Given the description of an element on the screen output the (x, y) to click on. 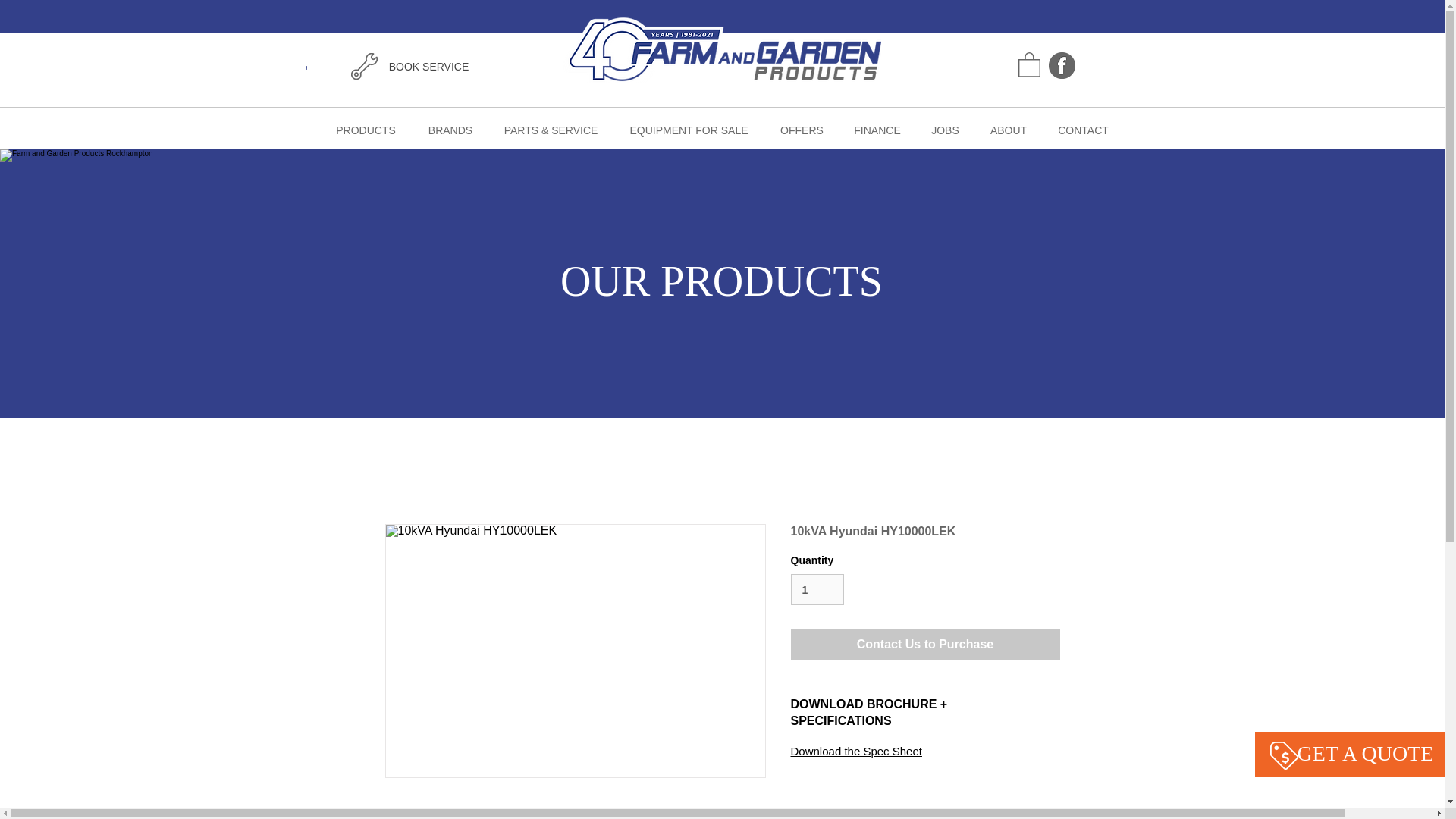
FINANCE (876, 130)
BOOK SERVICE (427, 67)
1 (817, 589)
BOOK SERVICE (1343, 65)
GET A QUOTE (239, 62)
EQUIPMENT FOR SALE (688, 130)
ABOUT (1008, 130)
PRODUCTS (365, 130)
JOBS (944, 130)
BRANDS (448, 130)
